Given the description of an element on the screen output the (x, y) to click on. 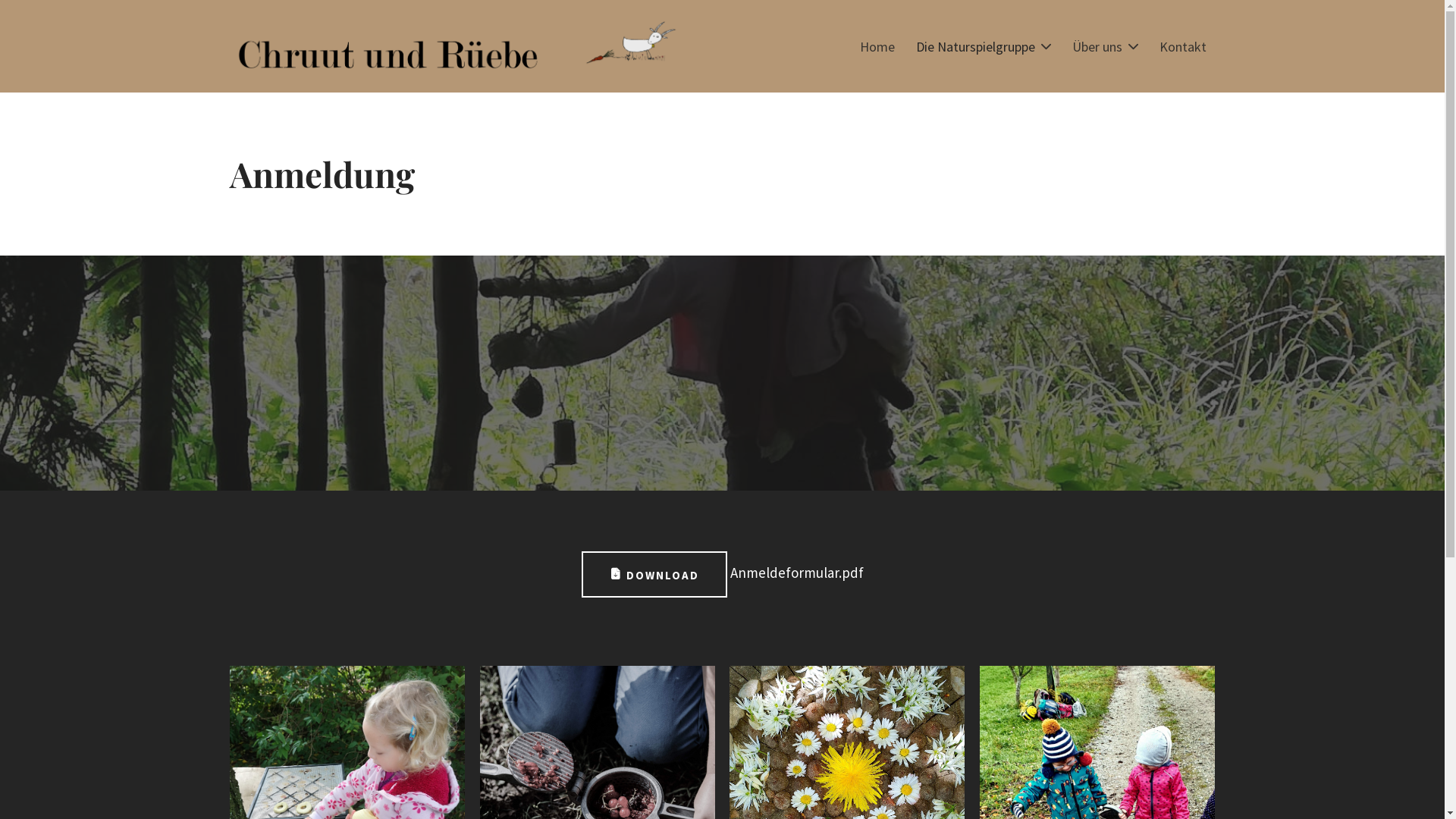
DOWNLOAD Element type: text (653, 574)
Kontakt Element type: text (1181, 46)
Home Element type: text (876, 46)
